Given the description of an element on the screen output the (x, y) to click on. 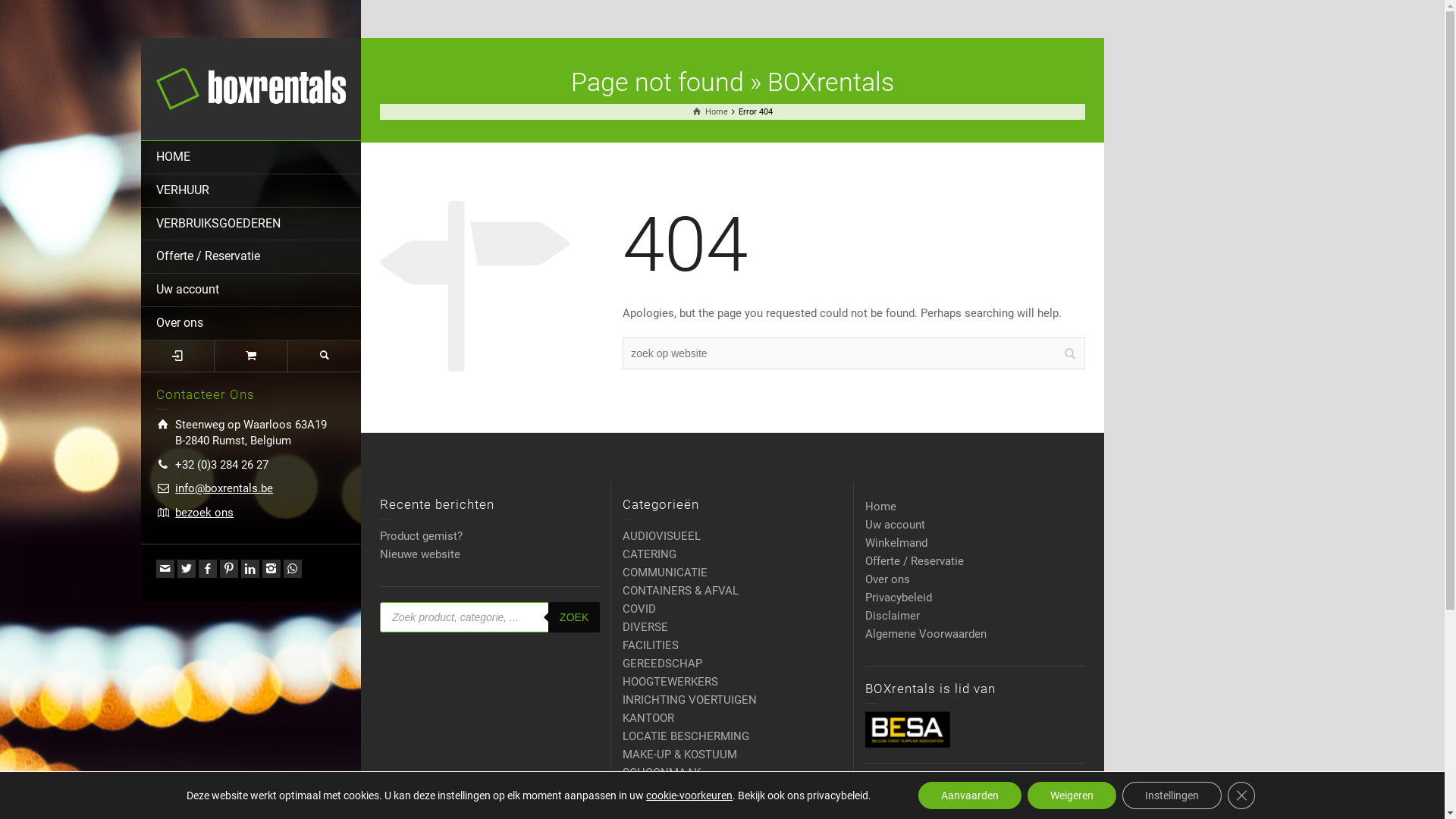
DIVERSE Element type: text (645, 626)
Over ons Element type: text (887, 579)
CONTAINERS & AFVAL Element type: text (680, 590)
Inloggen Element type: hover (177, 355)
VERHUUR Element type: text (250, 190)
FACILITIES Element type: text (650, 645)
Close GDPR Cookie Banner Element type: text (1241, 795)
Weigeren Element type: text (1071, 795)
Instellingen Element type: text (1171, 795)
Uw account Element type: text (895, 524)
Product gemist? Element type: text (420, 535)
Home Element type: text (880, 506)
Nieuwe website Element type: text (419, 554)
Disclaimer Element type: text (892, 615)
ZOEK Element type: text (573, 617)
Facebook Element type: hover (207, 568)
BOXrentals Element type: hover (250, 87)
HOOGTEWERKERS Element type: text (670, 681)
KANTOOR Element type: text (648, 717)
AUDIOVISUEEL Element type: text (661, 535)
MAKE-UP & KOSTUUM Element type: text (679, 754)
Search Element type: hover (324, 355)
Instagram Element type: hover (271, 568)
Algemene Voorwaarden Element type: text (925, 633)
LOCATIE BESCHERMING Element type: text (685, 736)
Home Element type: text (710, 111)
SIGNALISATIE Element type: text (658, 790)
COVID Element type: text (638, 608)
Pinterest Element type: hover (228, 568)
Uw account Element type: text (250, 290)
TAFELS & STOELEN Element type: text (673, 808)
Over ons Element type: text (250, 323)
COMMUNICATIE Element type: text (664, 572)
Email Element type: hover (165, 568)
Linkedin Element type: hover (250, 568)
Privacybeleid Element type: text (898, 597)
INRICHTING VOERTUIGEN Element type: text (689, 699)
Offerte / Reservatie Element type: text (914, 560)
cookie-voorkeuren Element type: text (689, 795)
GEREEDSCHAP Element type: text (662, 663)
CATERING Element type: text (649, 554)
Twitter Element type: hover (186, 568)
info@boxrentals.be Element type: text (224, 488)
HOME Element type: text (250, 157)
SCHOONMAAK Element type: text (661, 772)
Winkelmand Element type: hover (251, 355)
bezoek ons Element type: text (204, 512)
WhatsApp Element type: hover (292, 568)
VERBRUIKSGOEDEREN Element type: text (250, 224)
Aanvaarden Element type: text (969, 795)
Winkelmand Element type: text (896, 542)
Offerte / Reservatie Element type: text (250, 256)
